Given the description of an element on the screen output the (x, y) to click on. 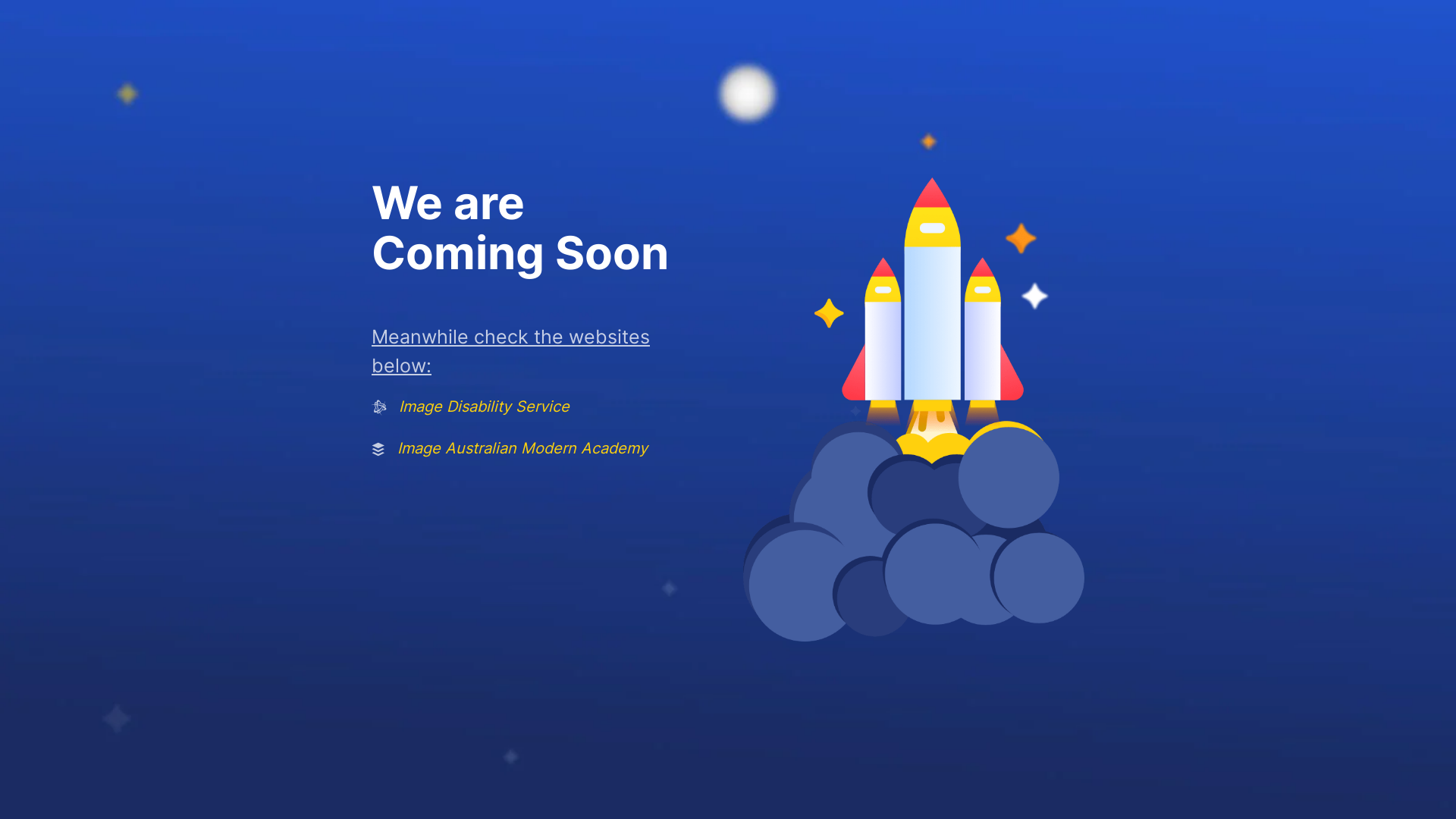
Image Disability Service Element type: text (483, 406)
Image Australian Modern Academy Element type: text (522, 448)
